Given the description of an element on the screen output the (x, y) to click on. 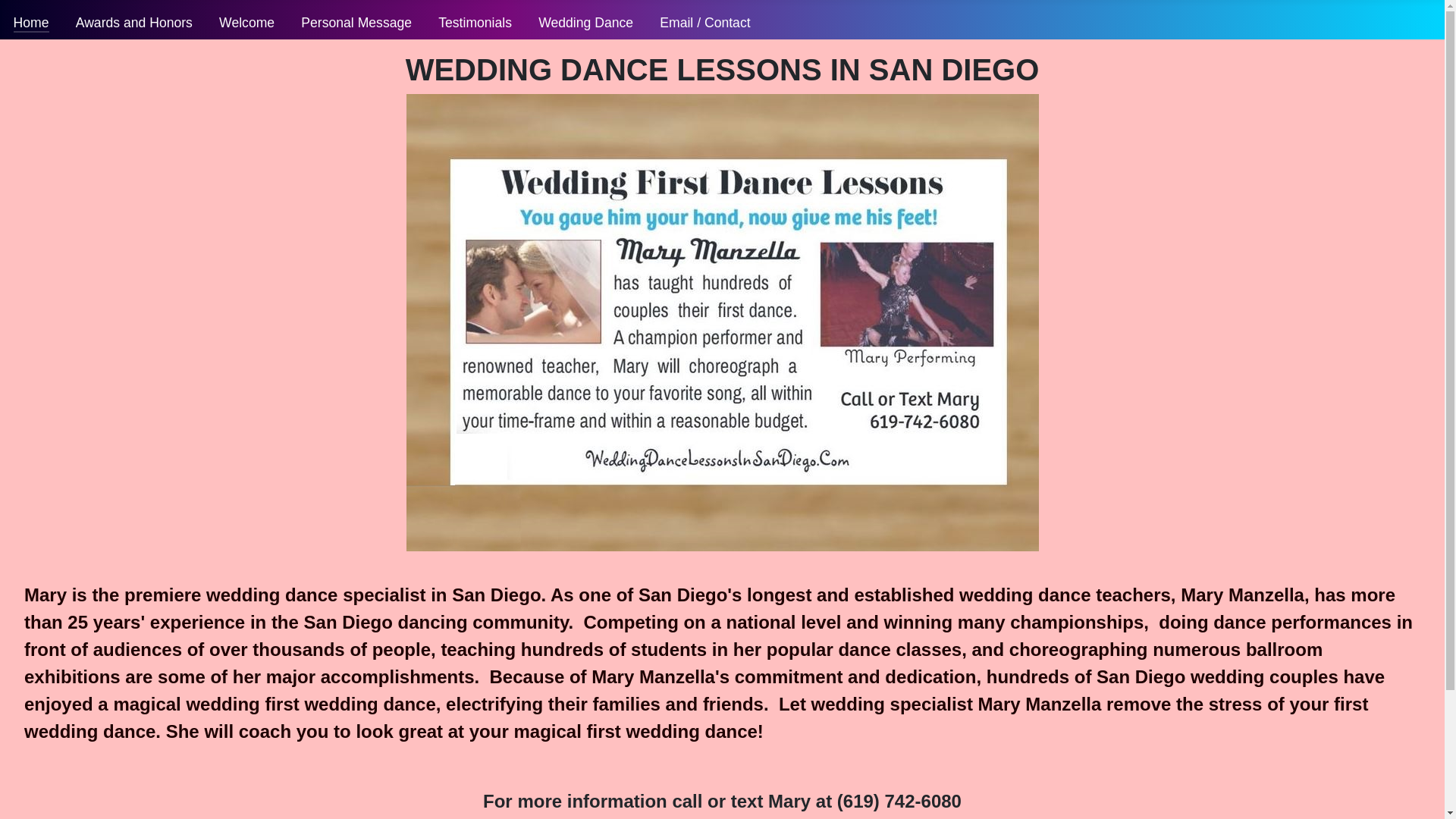
Awards and Honors (133, 22)
Personal Message (356, 22)
Welcome (247, 22)
Wedding Dance (585, 22)
Testimonials (475, 22)
Home (31, 22)
